Given the description of an element on the screen output the (x, y) to click on. 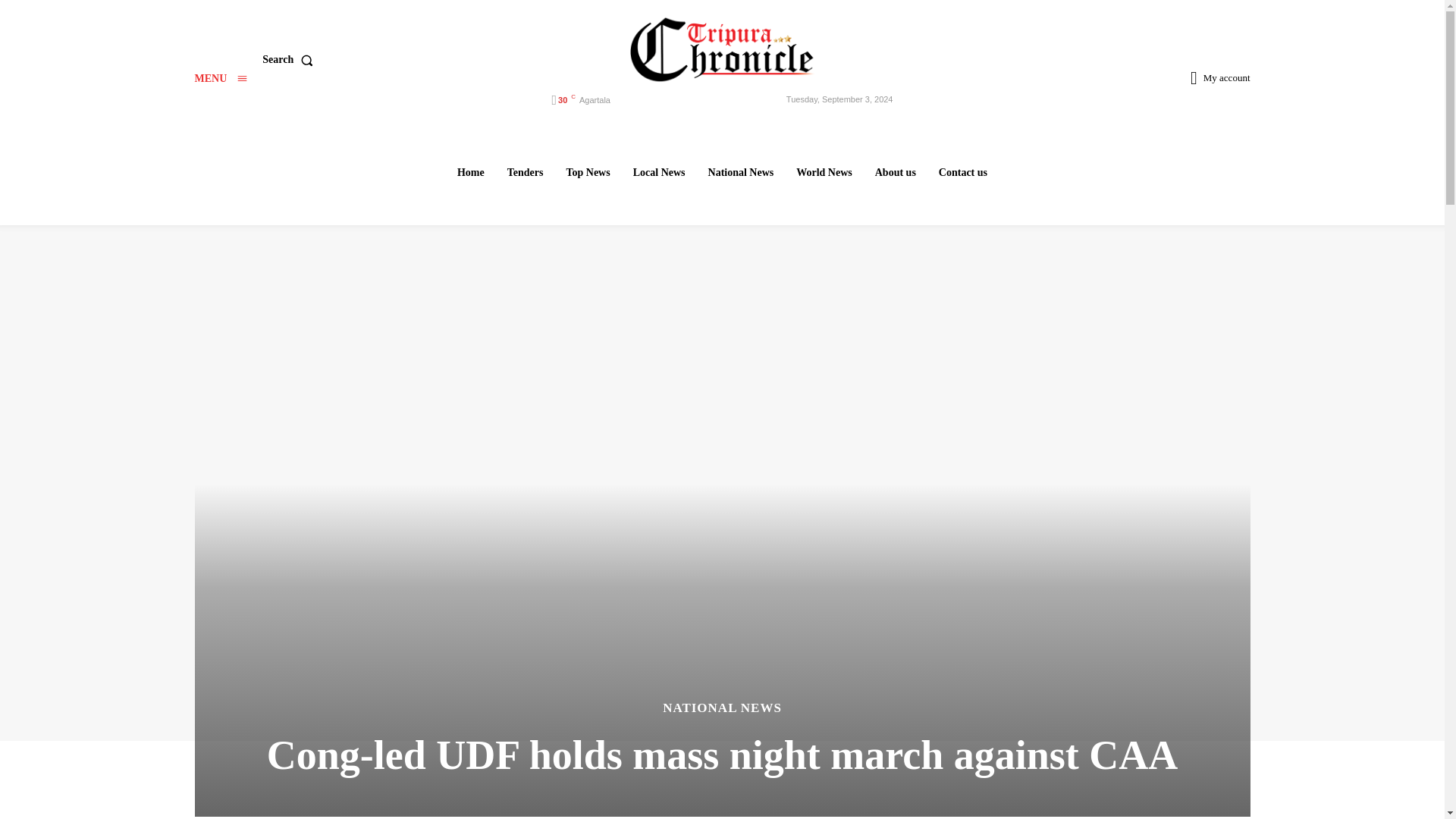
World News (824, 172)
MENU (220, 78)
Menu (220, 78)
Search (290, 60)
Tenders (525, 172)
Local News (659, 172)
National News (740, 172)
Top News (587, 172)
Home (470, 172)
